Given the description of an element on the screen output the (x, y) to click on. 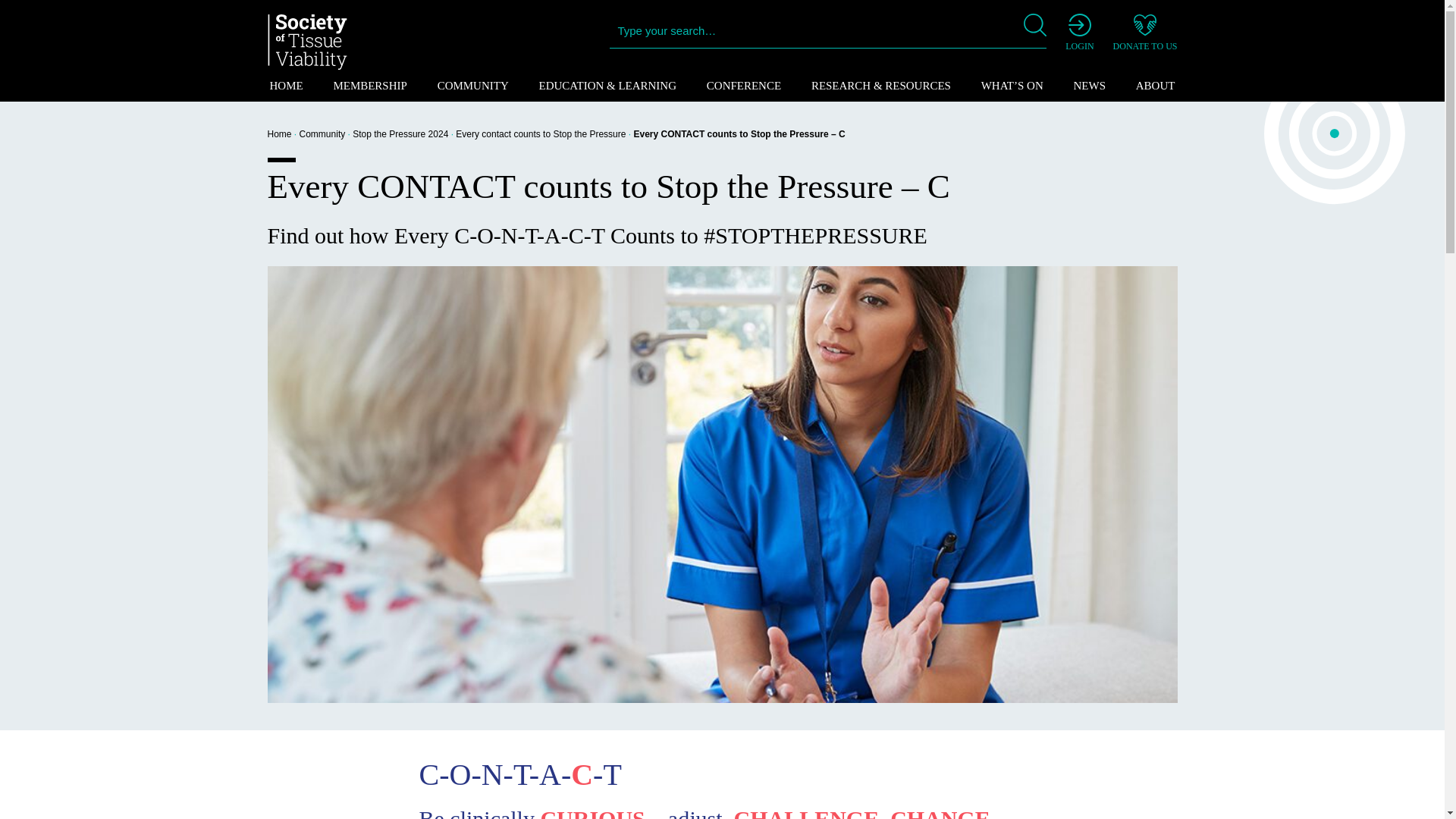
Stop the Pressure 2024 (400, 133)
ABOUT (1155, 85)
DONATE TO US (1145, 32)
CONFERENCE (743, 85)
COMMUNITY (473, 85)
Every contact counts to Stop the Pressure (540, 133)
HOME (285, 85)
NEWS (1089, 85)
MEMBERSHIP (369, 85)
Home (278, 133)
